Given the description of an element on the screen output the (x, y) to click on. 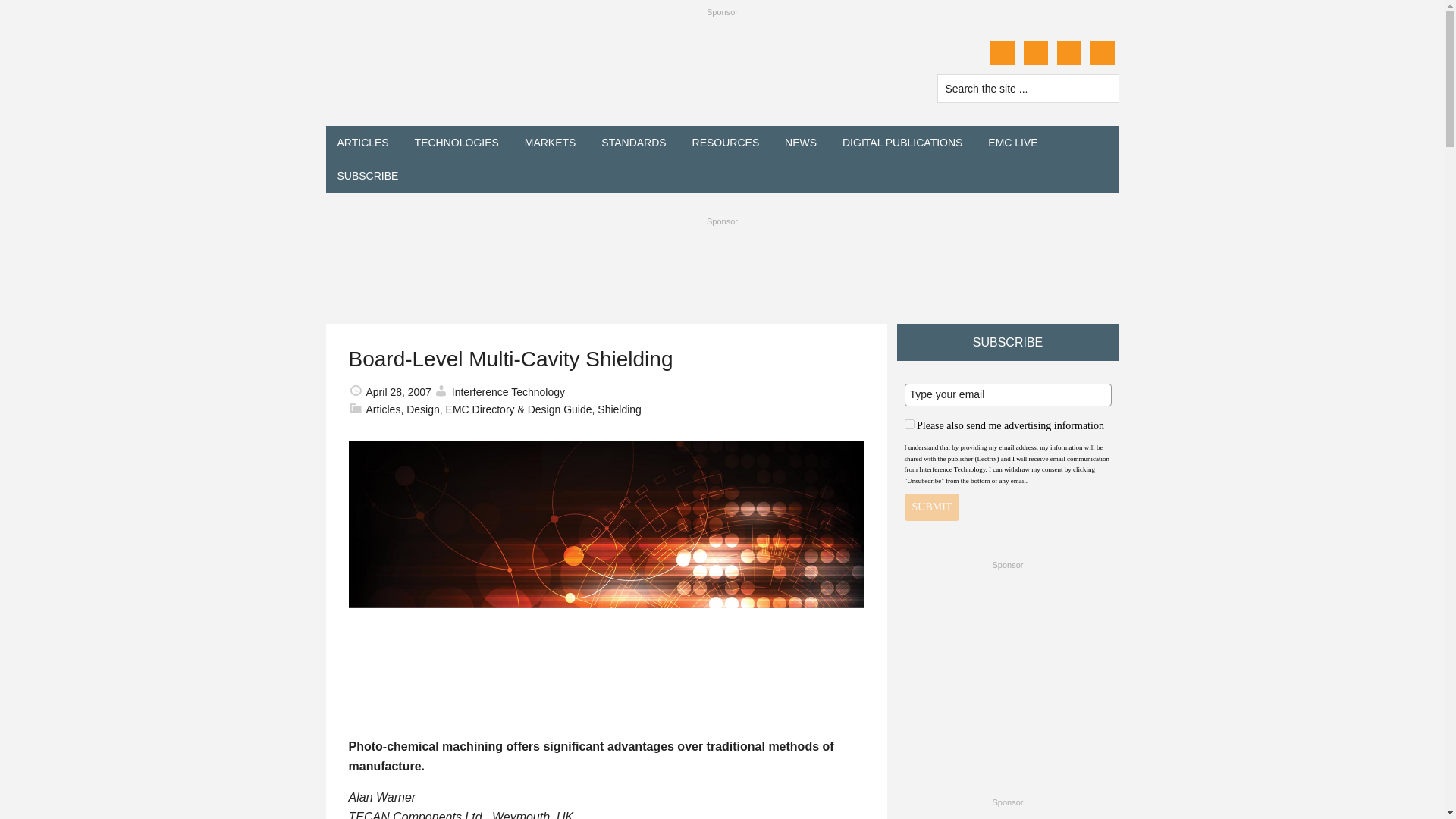
TECHNOLOGIES (457, 142)
Please also send me advertising information (909, 424)
3rd party ad content (1007, 670)
3rd party ad content (721, 266)
DIGITAL PUBLICATIONS (902, 142)
Interference Technology (470, 74)
STANDARDS (633, 142)
ARTICLES (363, 142)
NEWS (800, 142)
3rd party ad content (1007, 816)
RESOURCES (726, 142)
MARKETS (550, 142)
